Given the description of an element on the screen output the (x, y) to click on. 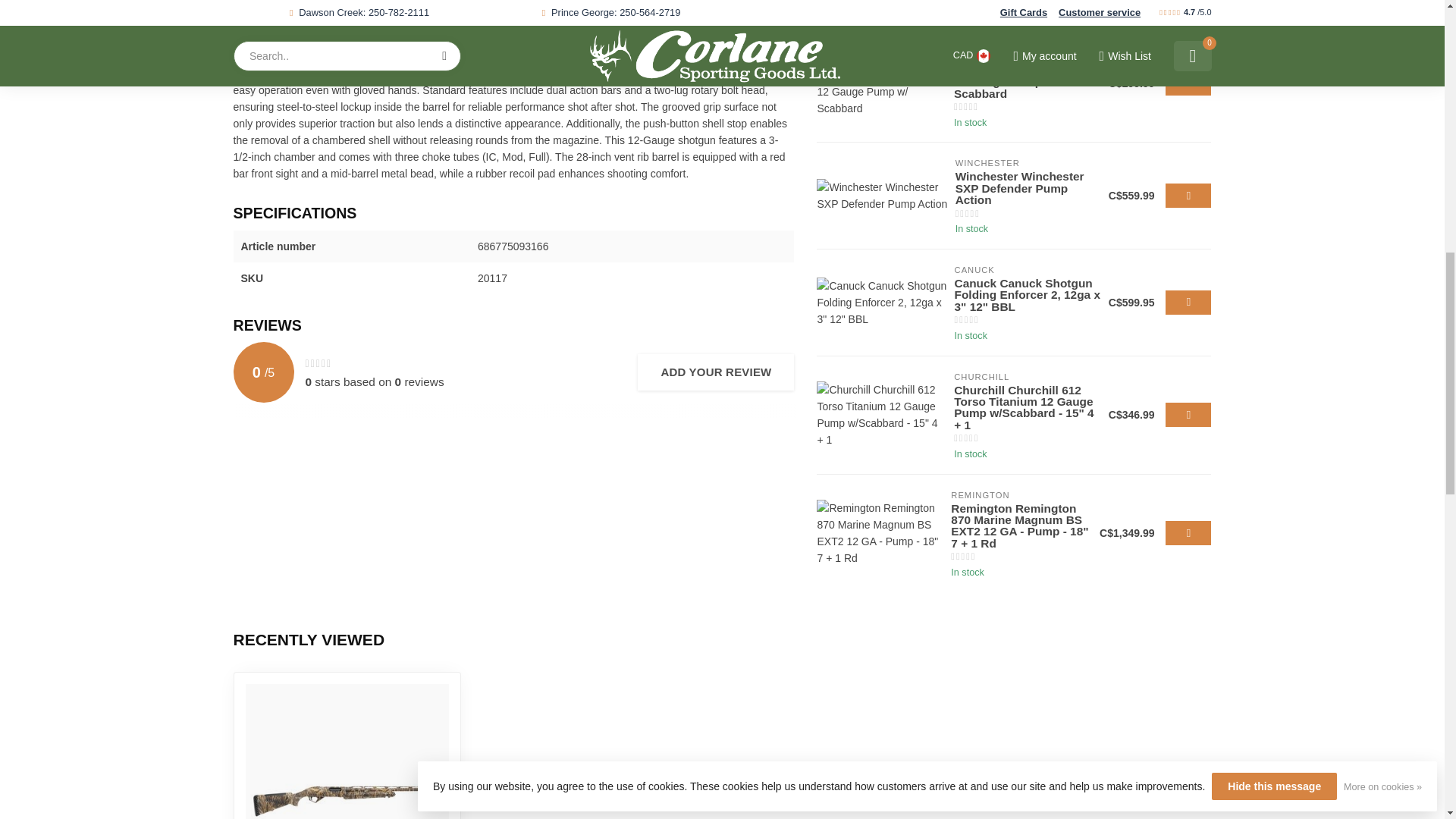
Winchester Winchester SXP Defender Pump Action (881, 195)
Canuck Canuck Shotgun Folding Enforcer 2, 12ga x 3" 12" BBL (881, 302)
Benelli Benelli SuperNova 12ga 28in MAX-7 (347, 751)
